Given the description of an element on the screen output the (x, y) to click on. 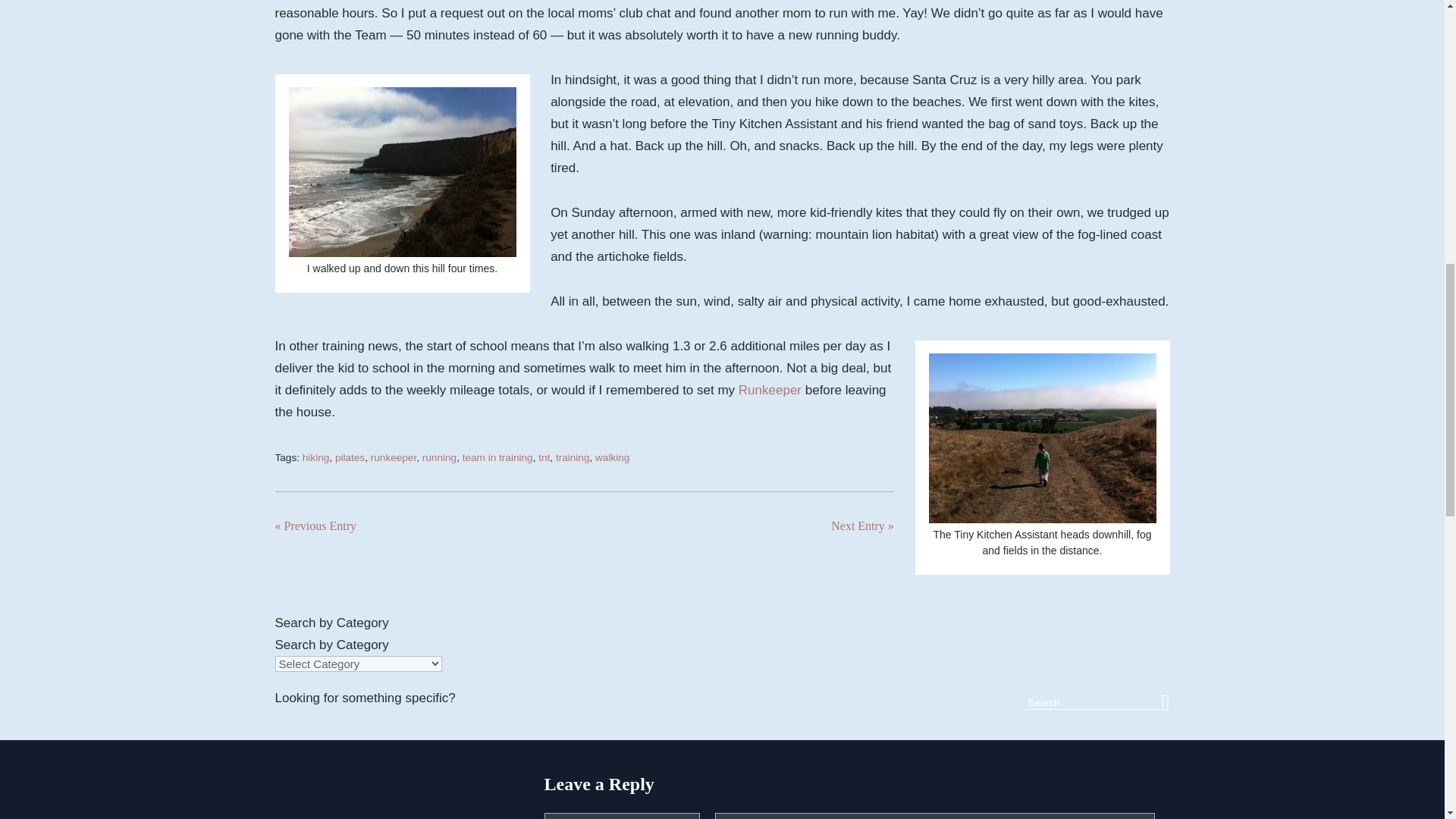
runkeeper (393, 457)
pilates (349, 457)
walking (611, 457)
beach-cliff (401, 171)
tnt (544, 457)
team in training (497, 457)
hiking (316, 457)
Runkeeper (770, 390)
training (572, 457)
downhill (1042, 437)
running (439, 457)
